Given the description of an element on the screen output the (x, y) to click on. 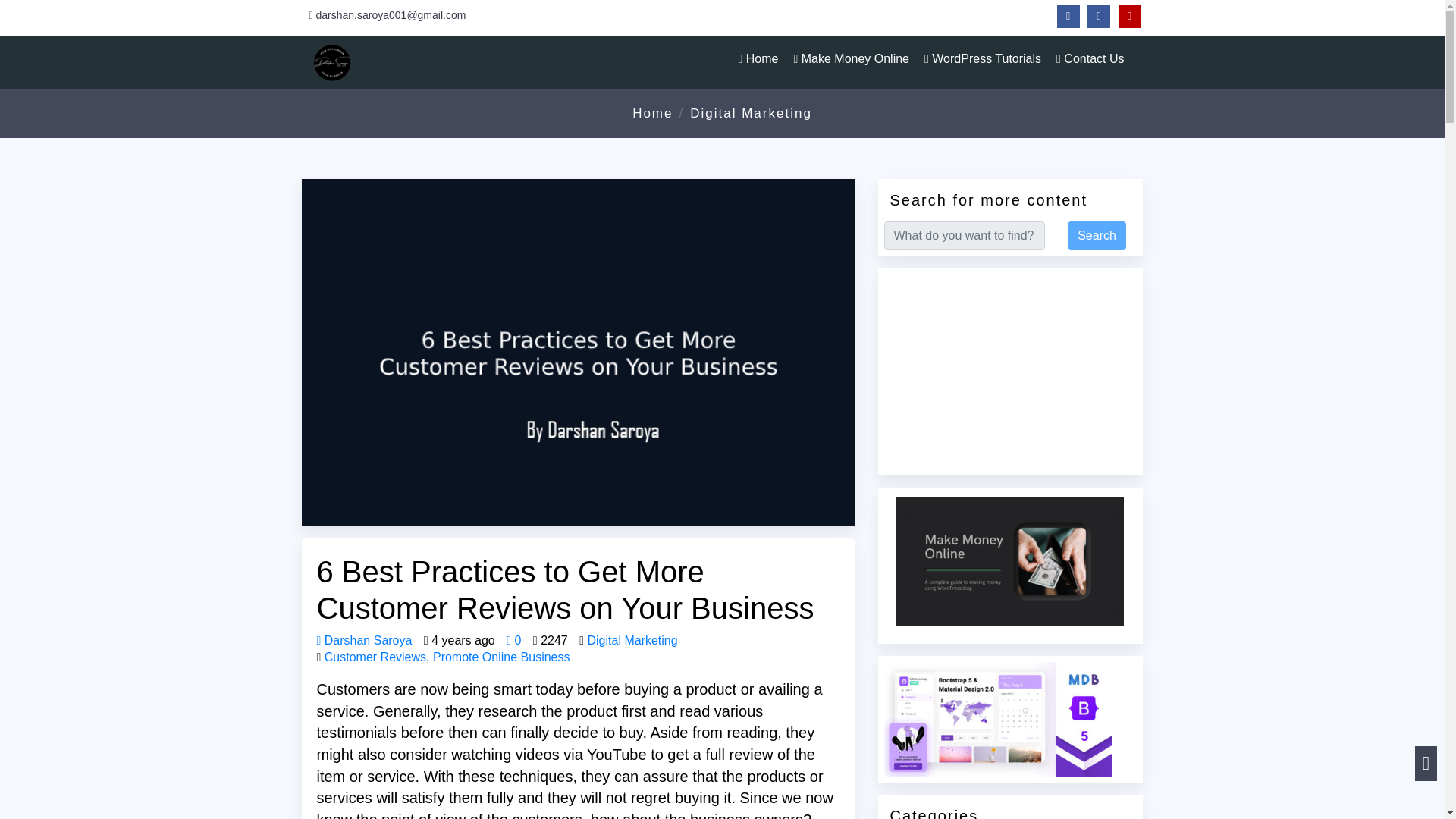
Promote Online Business (501, 656)
Customer Reviews (375, 656)
WordPress Tutorials (982, 59)
Home (758, 59)
Make Money Online (851, 59)
Home (651, 113)
Darshan Saroya (400, 66)
Digital Marketing (631, 640)
Make Money Online (851, 59)
Darshan Saroya (364, 640)
0 (513, 640)
Home (758, 59)
WordPress Tutorials (982, 59)
Digital Marketing (751, 113)
